Given the description of an element on the screen output the (x, y) to click on. 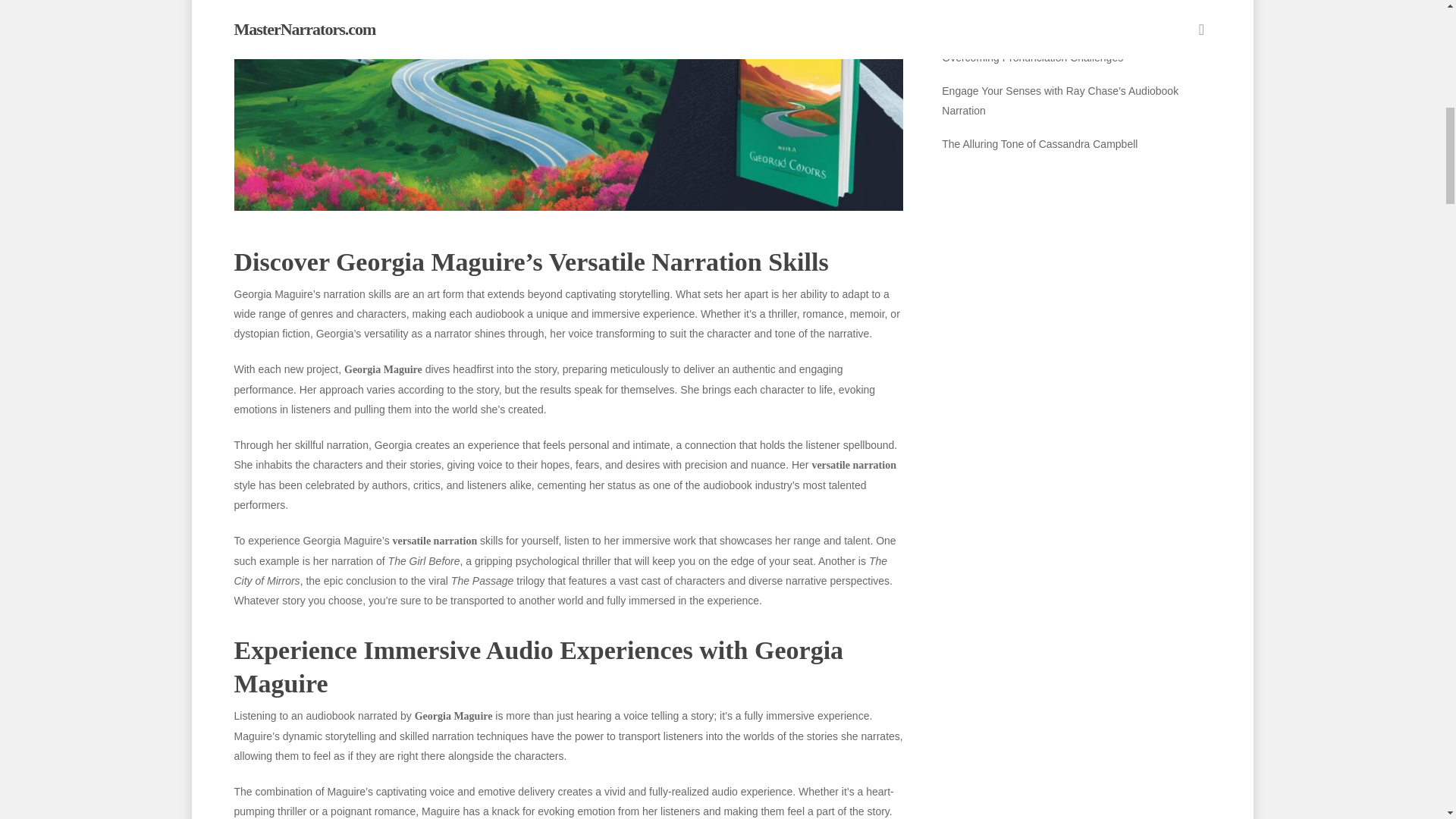
The Alluring Tone of Cassandra Campbell (1075, 143)
Overcoming Pronunciation Challenges (1075, 57)
